Given the description of an element on the screen output the (x, y) to click on. 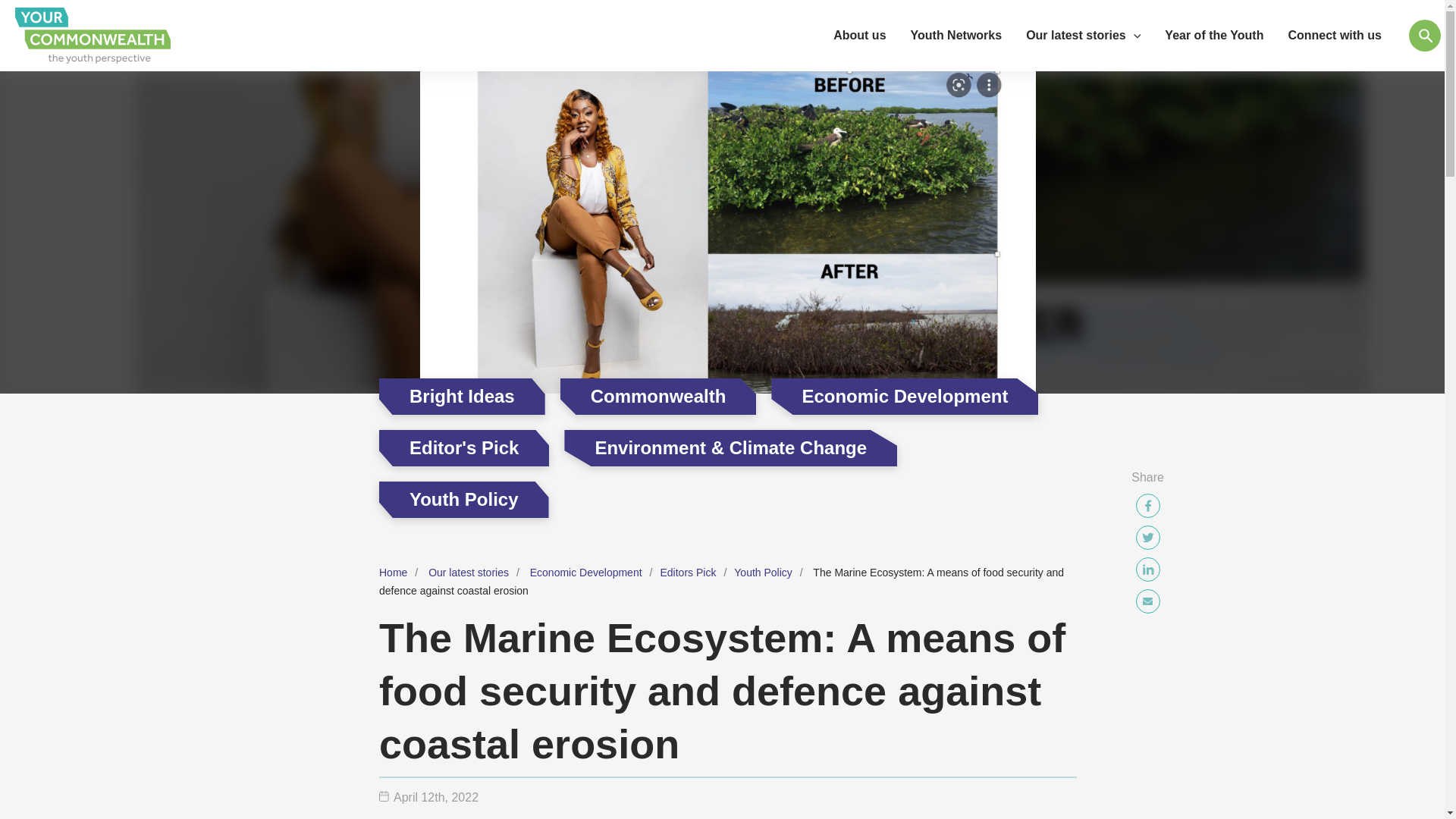
Our latest stories (1083, 35)
Year of the Youth (1214, 35)
Youth Networks (956, 35)
Connect with us (1334, 35)
About us (859, 35)
